Given the description of an element on the screen output the (x, y) to click on. 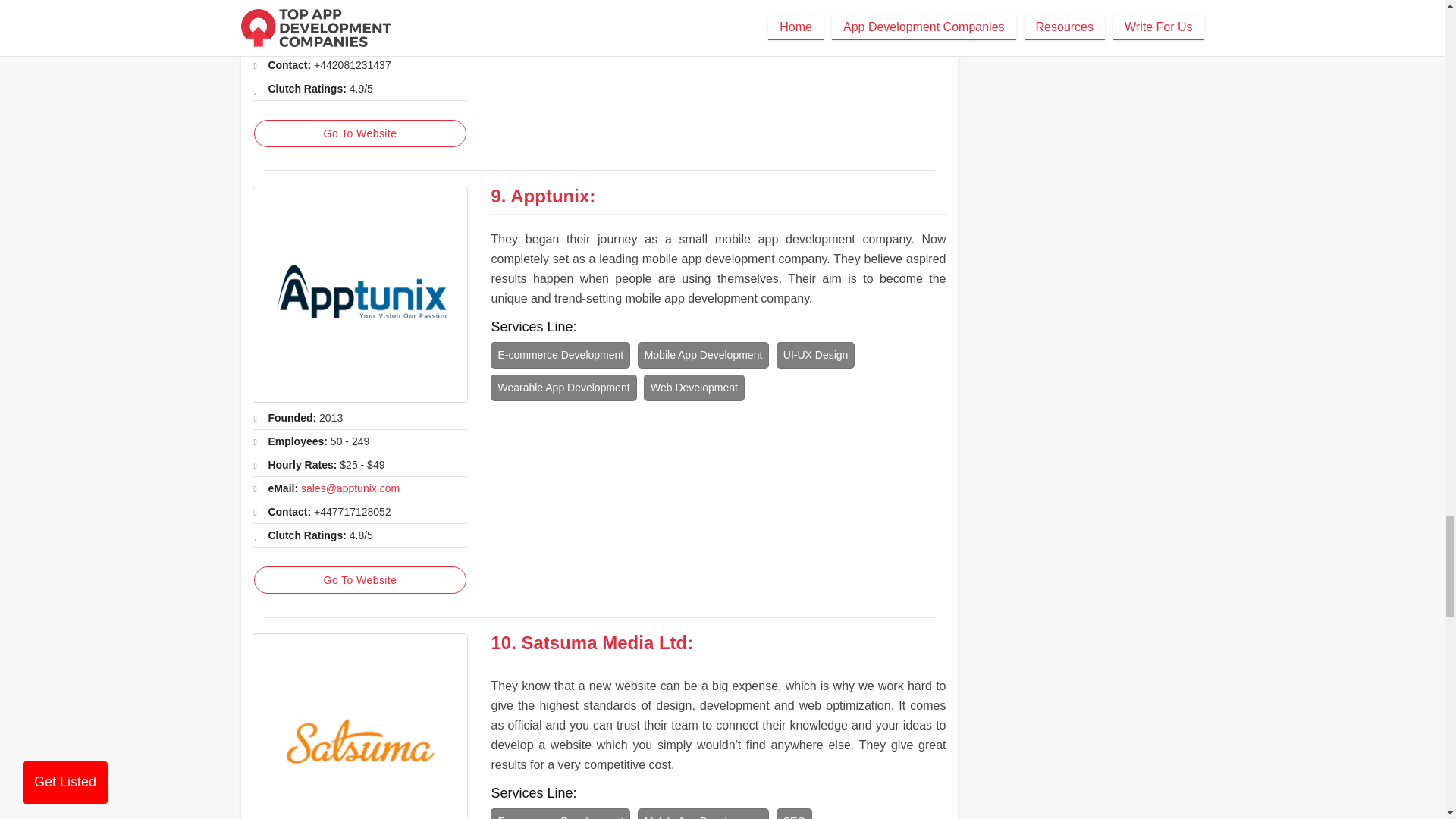
Satsuma Media Ltd (359, 726)
Apptunix (359, 294)
